Given the description of an element on the screen output the (x, y) to click on. 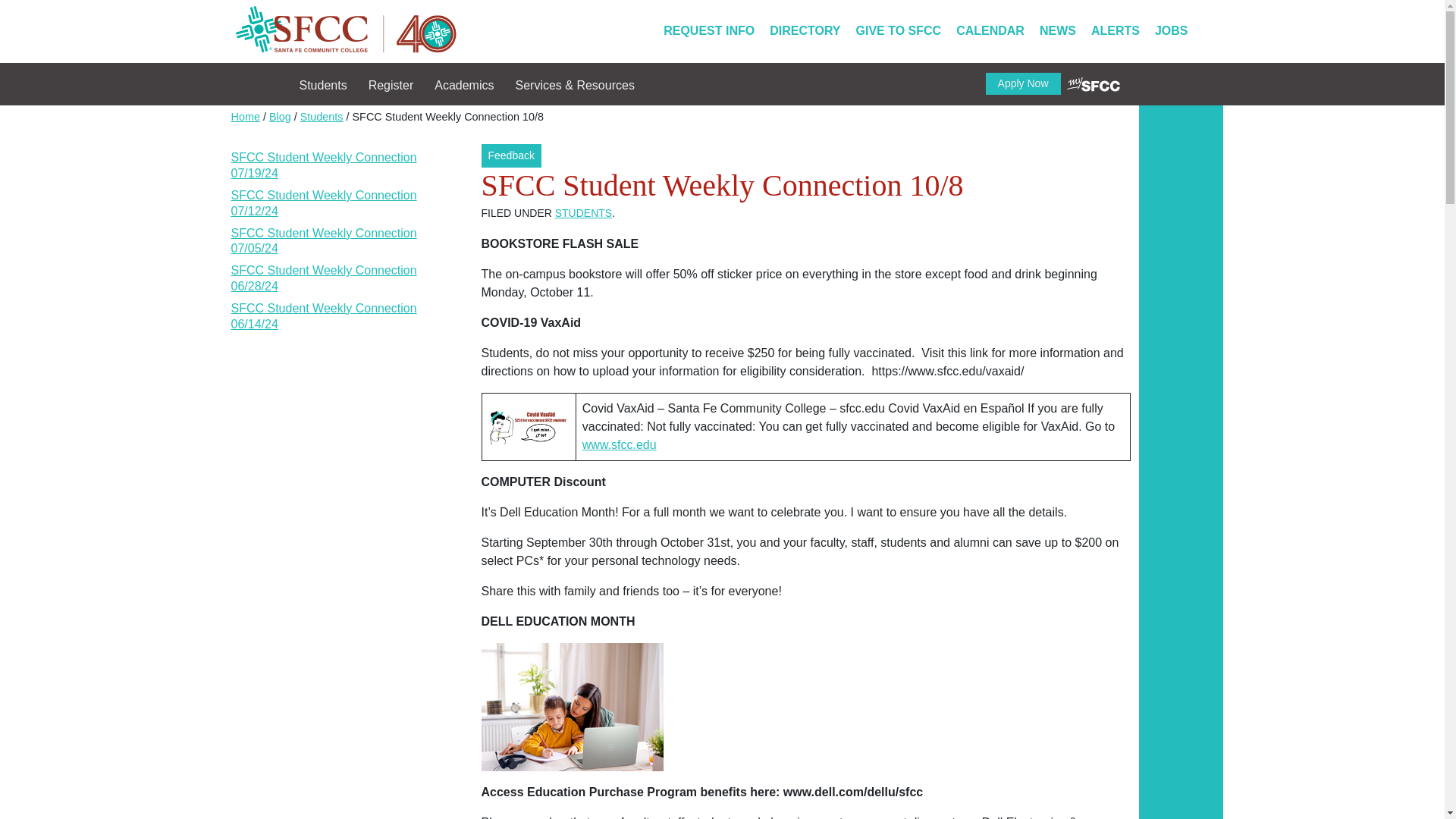
Academics (474, 83)
Alerts (1115, 30)
News (1057, 30)
Directory (804, 30)
Give to SFCC (898, 30)
Register (401, 83)
Students (333, 83)
Jobs (1171, 30)
Request Info (708, 30)
Calendar (990, 30)
GIVE TO SFCC (898, 30)
ALERTS (1115, 30)
DIRECTORY (804, 30)
NEWS (1057, 30)
REQUEST INFO (708, 30)
